Given the description of an element on the screen output the (x, y) to click on. 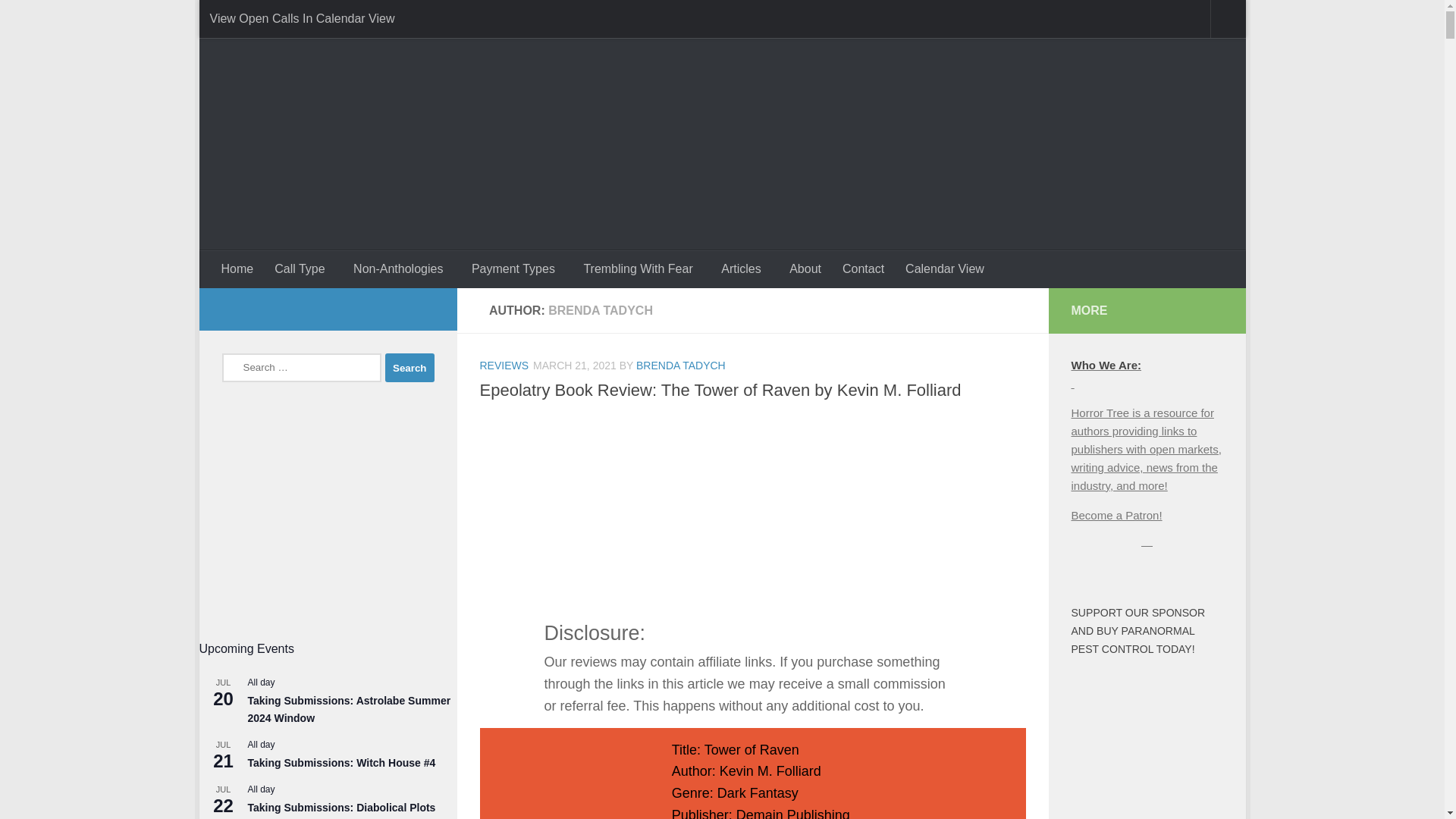
Skip to content (263, 20)
Search (409, 367)
Search (409, 367)
Epeolatry (752, 507)
tower (560, 779)
Posts by Brenda Tadych (680, 365)
View Open Calls In Calendar View (301, 18)
